Given the description of an element on the screen output the (x, y) to click on. 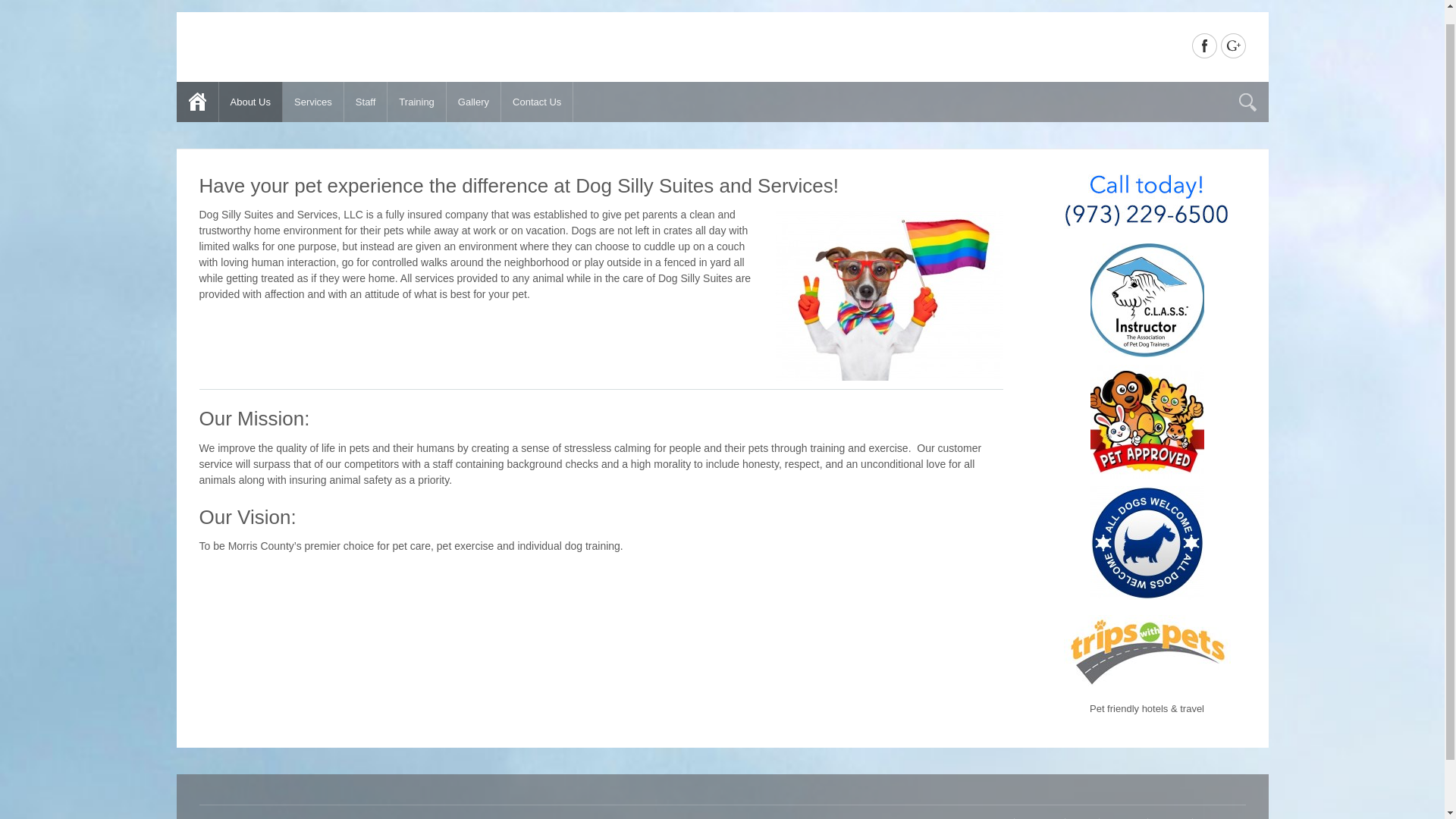
Training (416, 101)
About Us (250, 101)
Contact Us (536, 101)
Gallery (473, 101)
Staff (365, 101)
Services (312, 101)
